Given the description of an element on the screen output the (x, y) to click on. 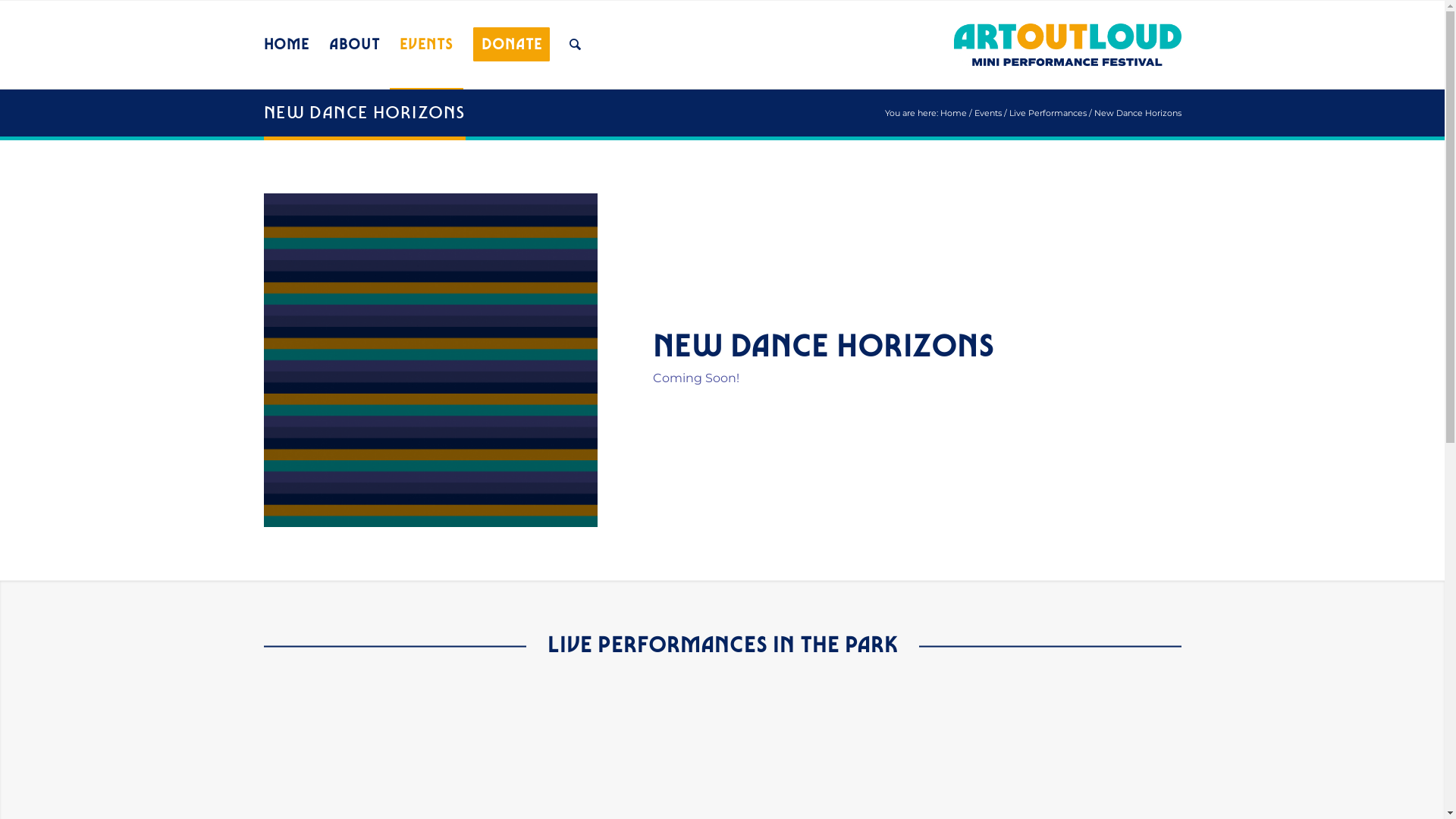
ABOUT Element type: text (354, 44)
Coming Soon Element type: hover (430, 360)
EVENTS Element type: text (426, 44)
Events Element type: text (987, 112)
HOME Element type: text (286, 44)
DONATE Element type: text (511, 44)
Live Performances Element type: text (1046, 112)
NEW DANCE HORIZONS Element type: text (364, 111)
Home Element type: text (953, 112)
